Given the description of an element on the screen output the (x, y) to click on. 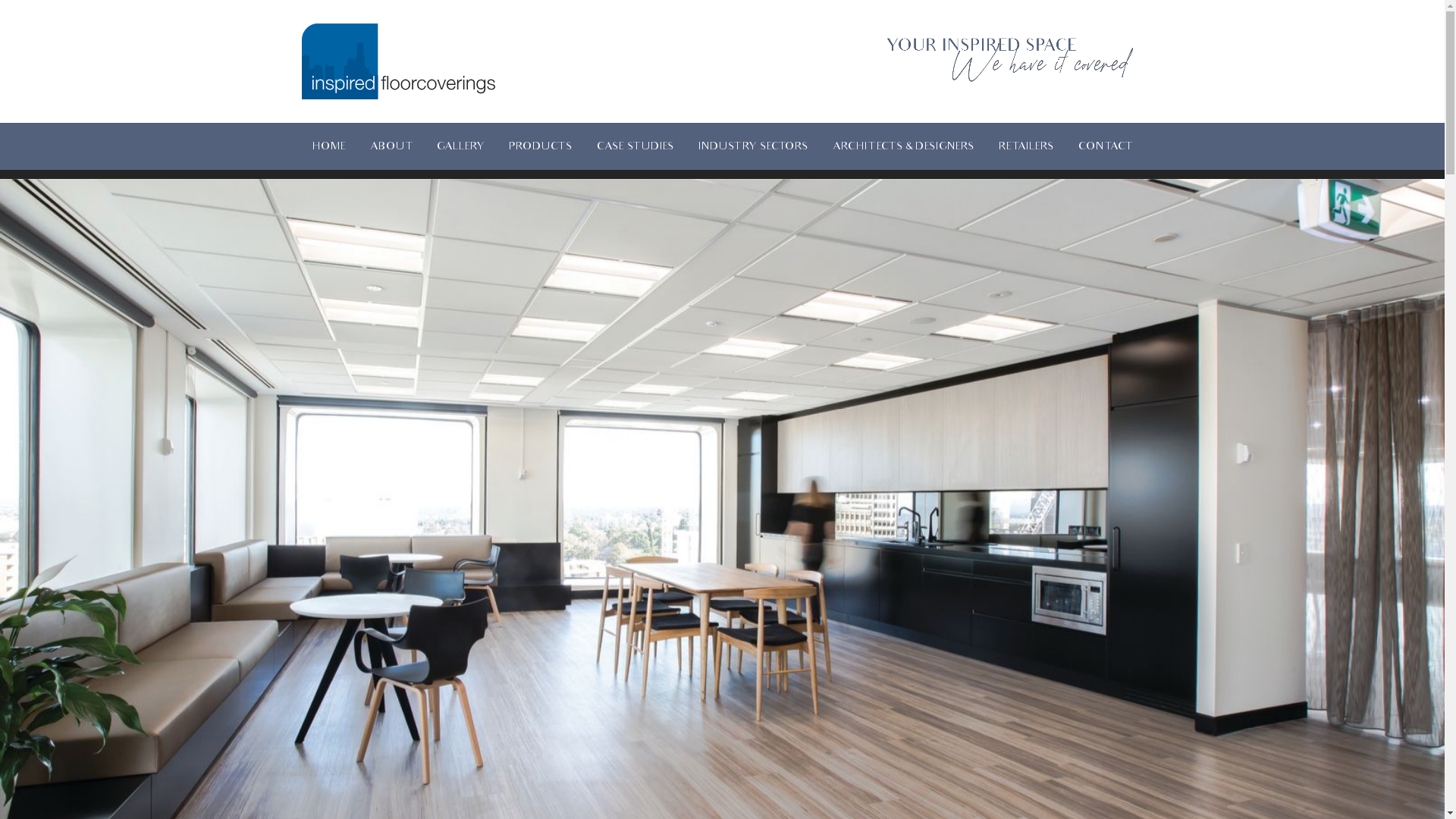
CONTACT Element type: text (1105, 145)
CASE STUDIES Element type: text (635, 145)
PRODUCTS Element type: text (540, 145)
INDUSTRY SECTORS Element type: text (753, 145)
RETAILERS Element type: text (1026, 145)
ARCHITECTS & DESIGNERS Element type: text (903, 145)
ABOUT Element type: text (390, 145)
GALLERY Element type: text (460, 145)
HOME Element type: text (328, 145)
